Given the description of an element on the screen output the (x, y) to click on. 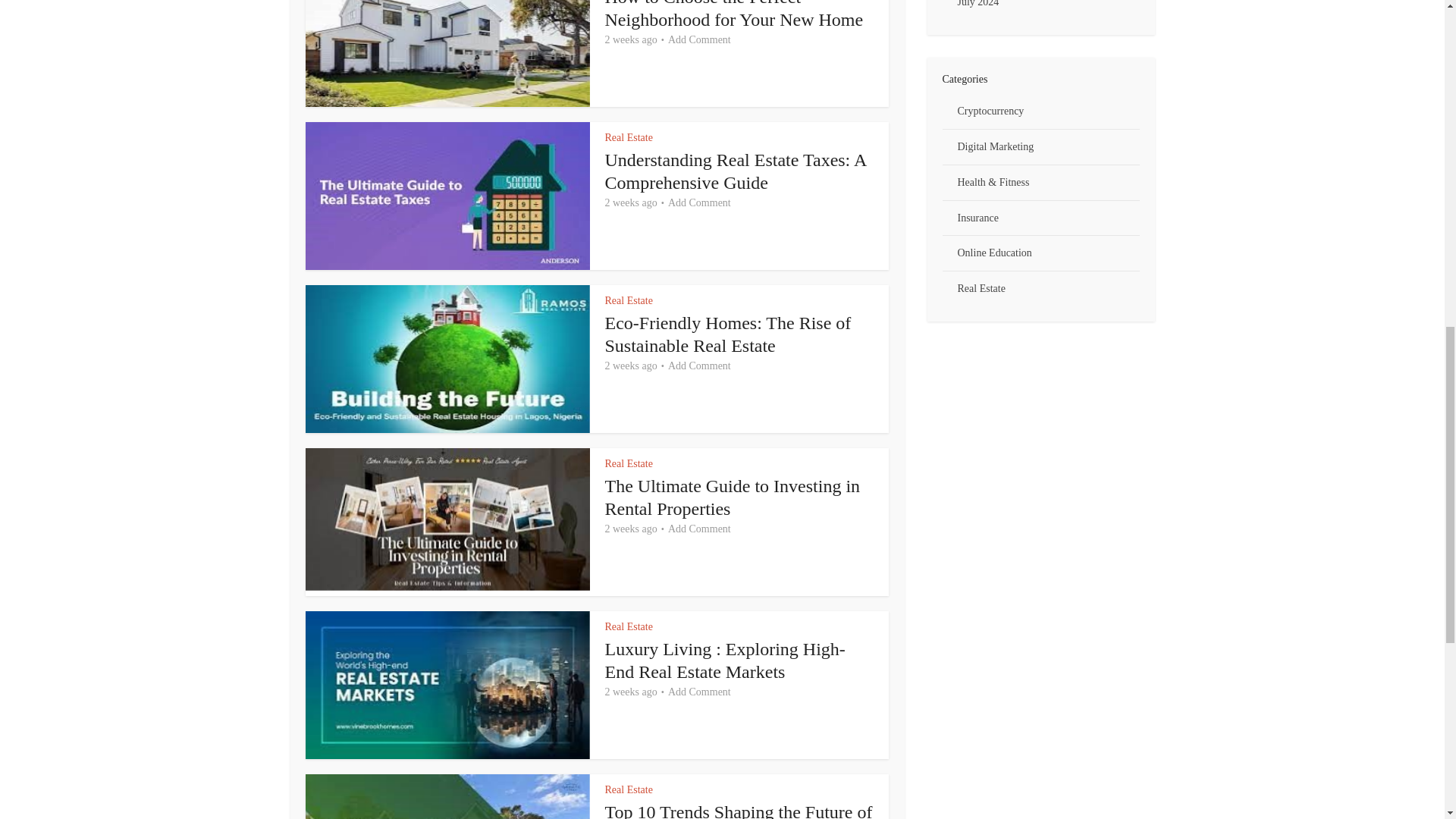
Add Comment (699, 366)
How to Choose the Perfect Neighborhood for Your New Home (734, 14)
Understanding Real Estate Taxes: A Comprehensive Guide (735, 170)
The Ultimate Guide to Investing in Rental Properties (732, 496)
Real Estate (628, 300)
Add Comment (699, 202)
Eco-Friendly Homes: The Rise of Sustainable Real Estate (728, 333)
Real Estate (628, 463)
The Ultimate Guide to Investing in Rental Properties (732, 496)
Real Estate (628, 626)
